Given the description of an element on the screen output the (x, y) to click on. 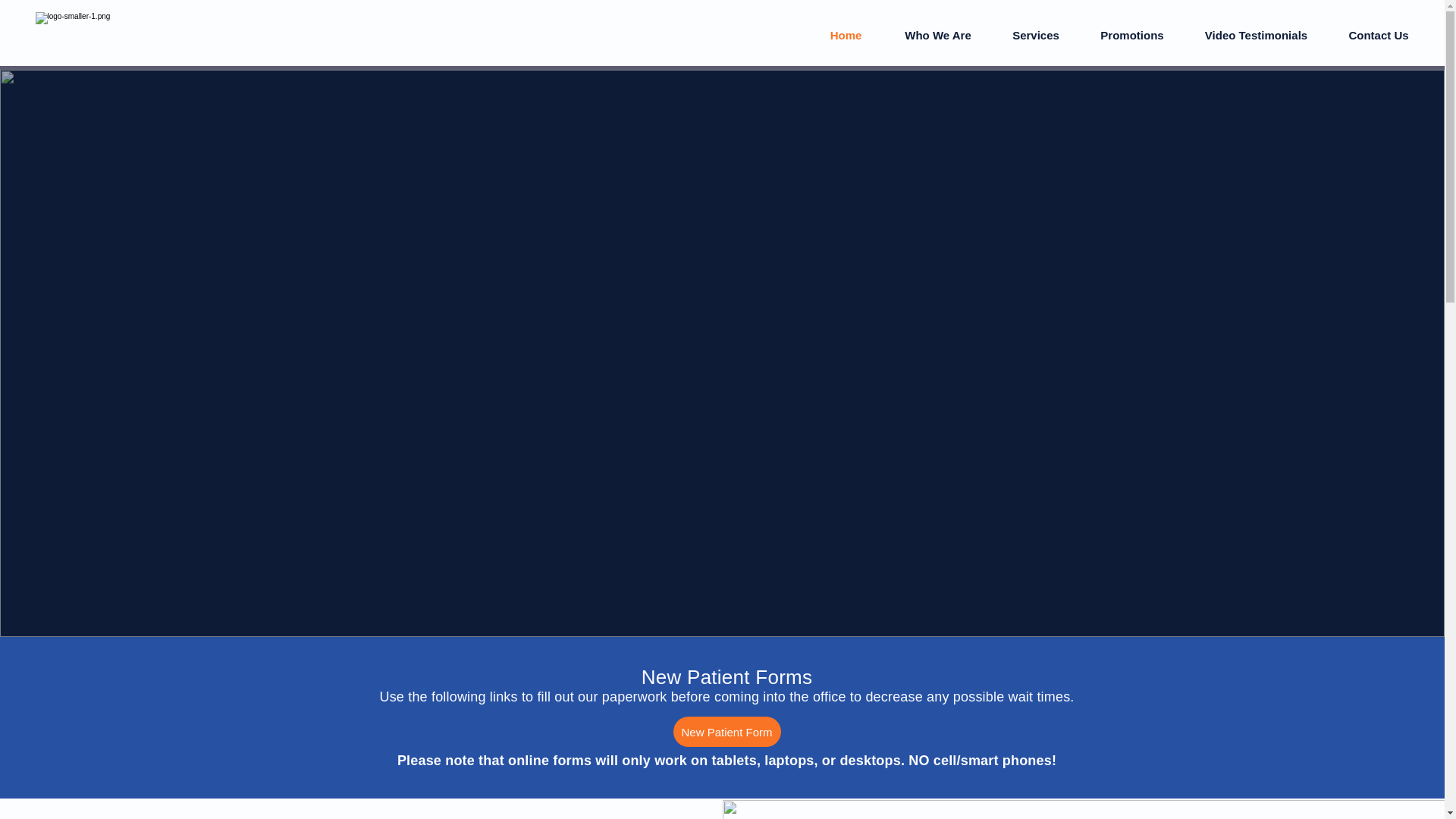
Video Testimonials (1256, 35)
Contact Us (1378, 35)
Home (845, 35)
New Patient Form (726, 731)
Promotions (1132, 35)
Who We Are (937, 35)
